Given the description of an element on the screen output the (x, y) to click on. 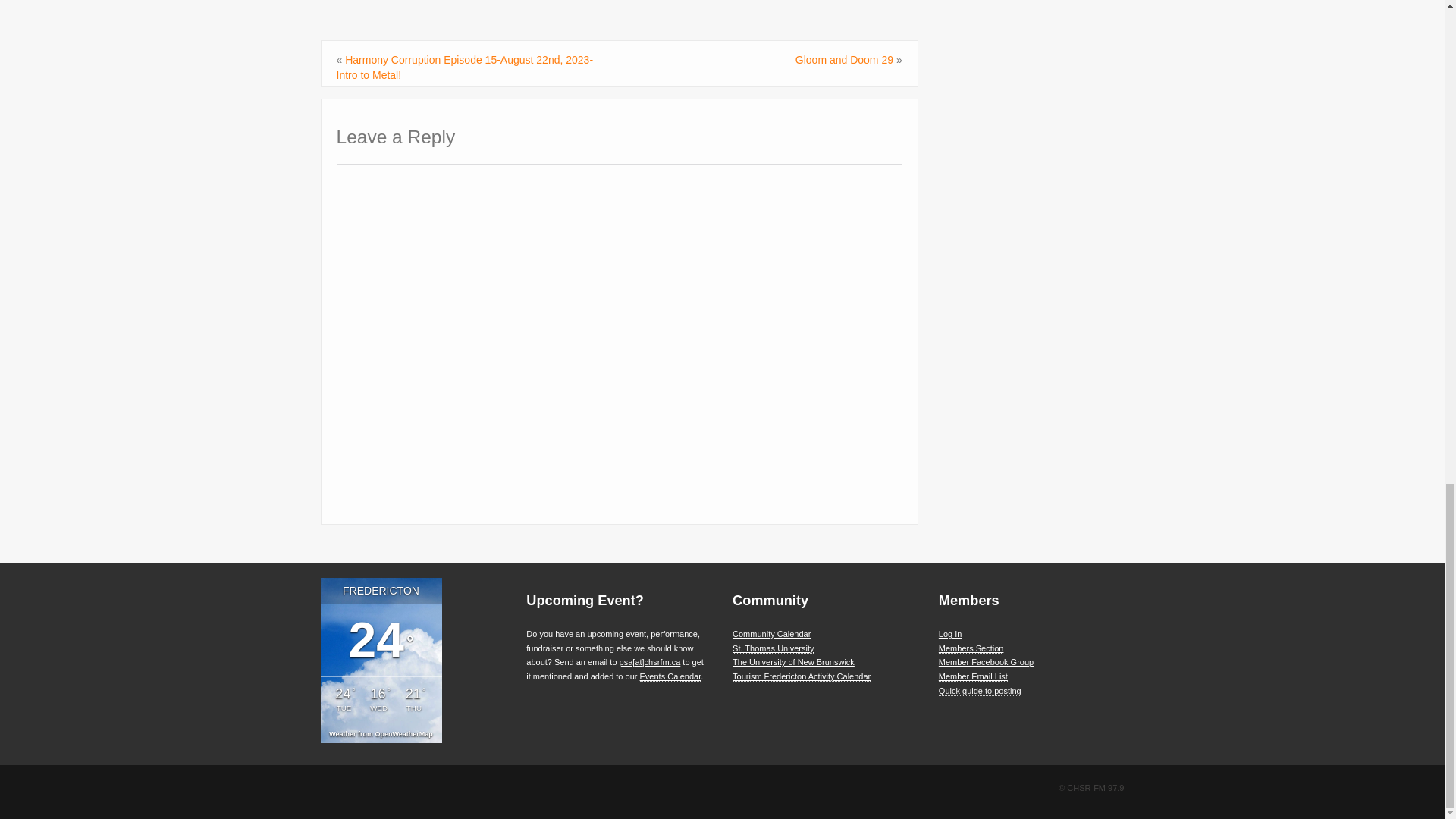
St. Thomas University (772, 648)
Gloom and Doom 29 (843, 60)
A facebook group just for members (986, 662)
Events Calendar (670, 676)
email list for members only (973, 676)
Community Calendar (771, 634)
